Given the description of an element on the screen output the (x, y) to click on. 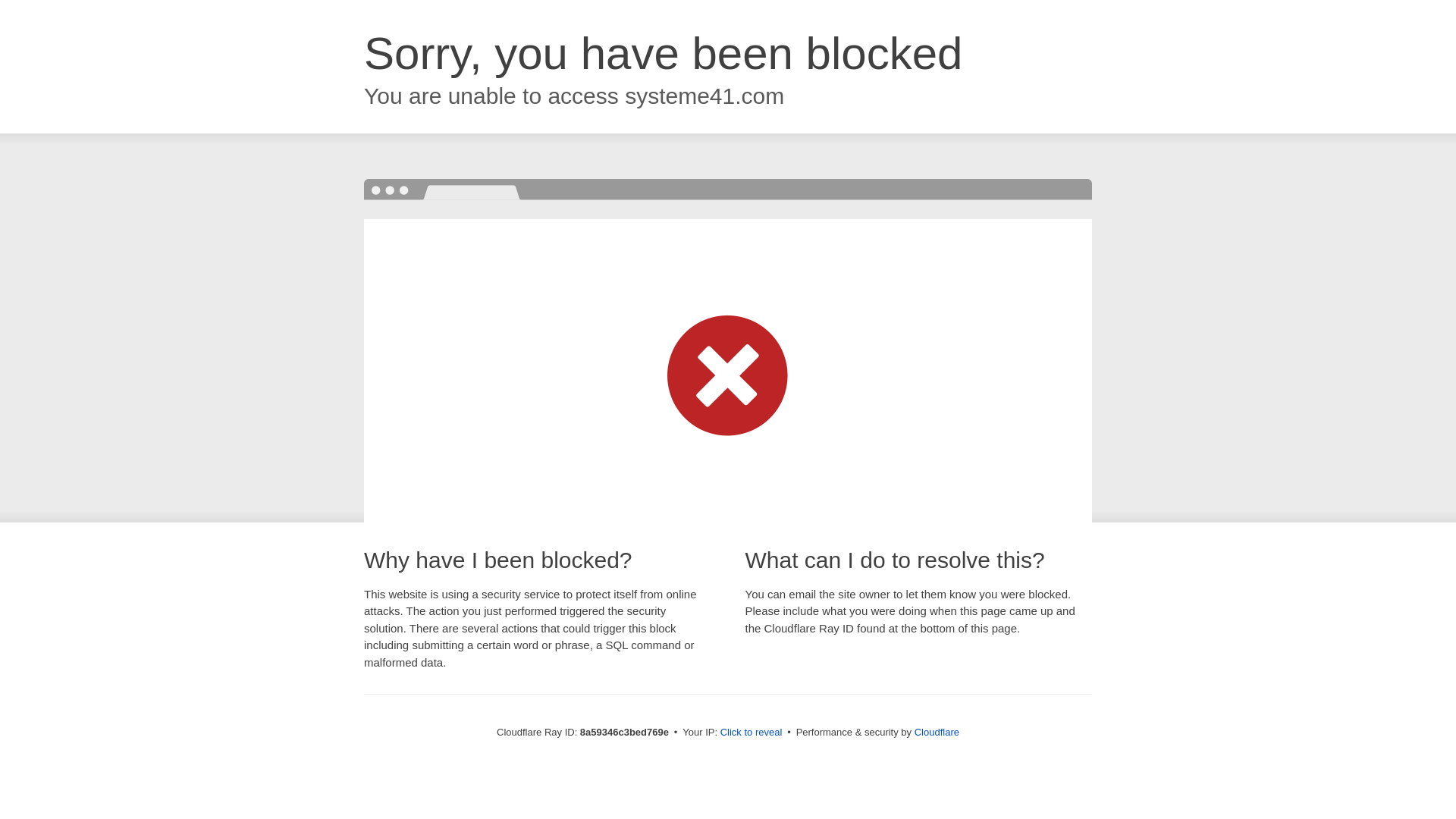
Click to reveal (751, 732)
Cloudflare (936, 731)
